Given the description of an element on the screen output the (x, y) to click on. 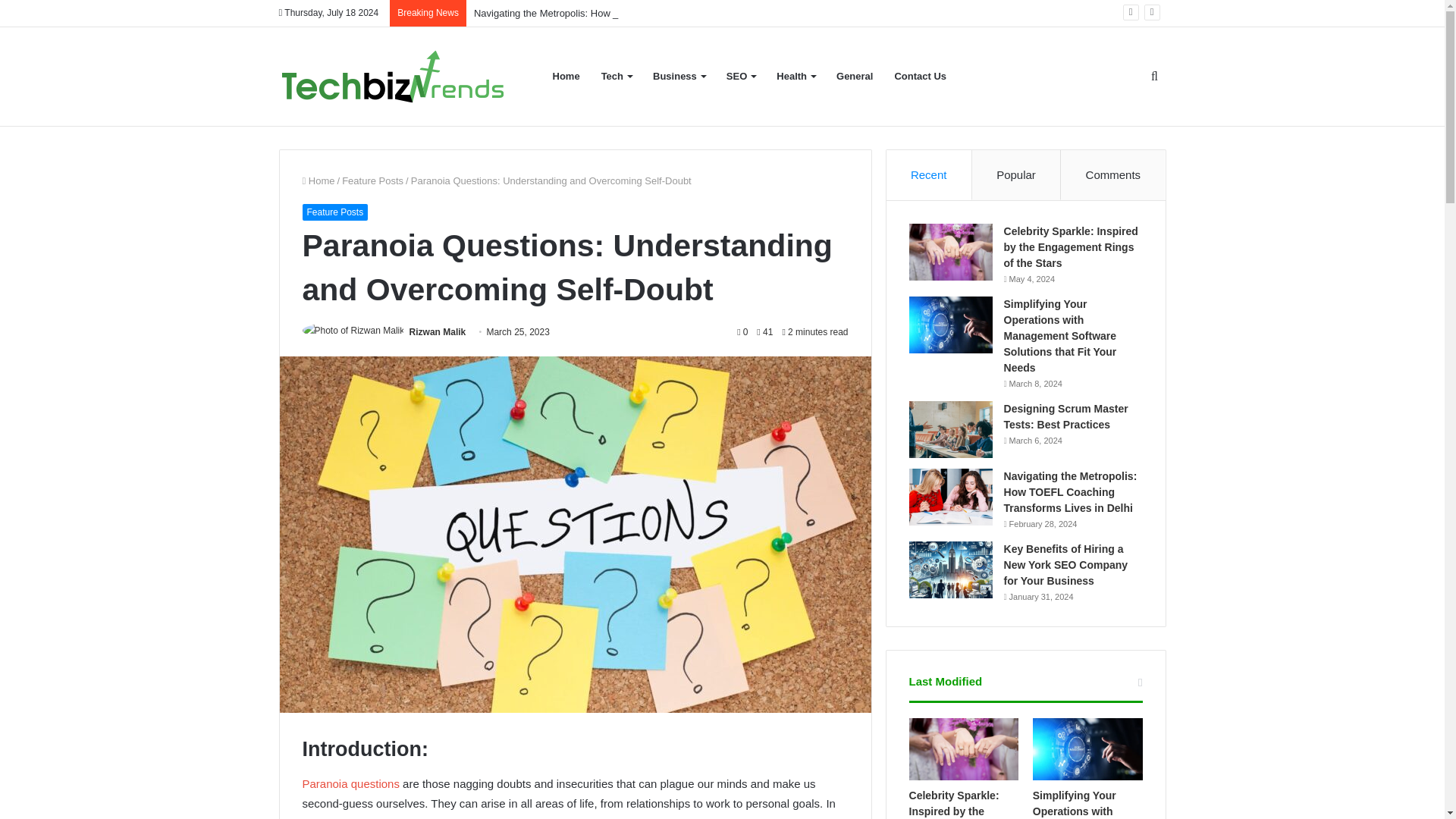
Feature Posts (334, 211)
Rizwan Malik (437, 331)
Feature Posts (372, 180)
Home (317, 180)
Paranoia questions (349, 783)
Rizwan Malik (437, 331)
